Given the description of an element on the screen output the (x, y) to click on. 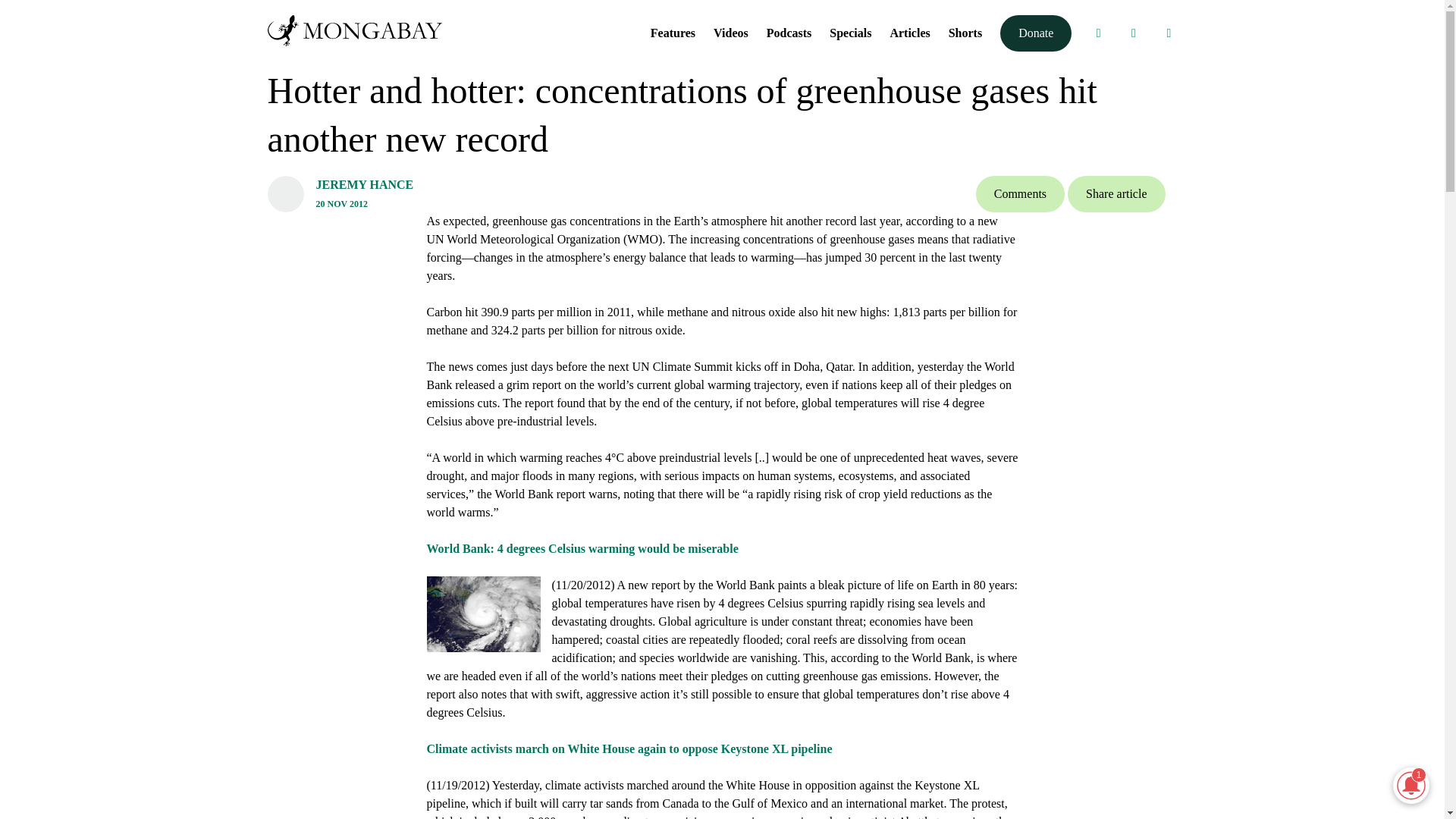
Podcasts (789, 32)
Shorts (965, 32)
Specials (849, 32)
Articles (909, 32)
Donate (1035, 33)
Videos (730, 32)
Features (672, 32)
